Given the description of an element on the screen output the (x, y) to click on. 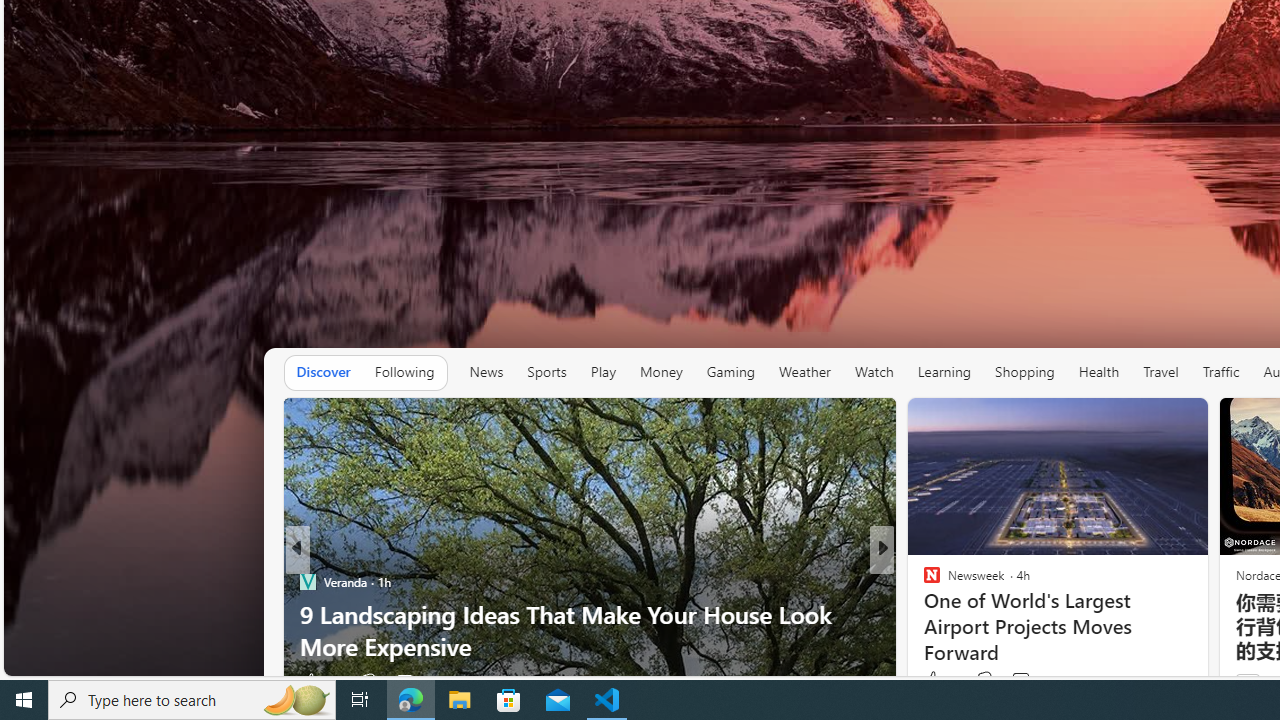
ABC News (923, 581)
162 Like (936, 681)
View comments 20 Comment (1014, 681)
WhatToWatch (923, 581)
View comments 104 Comment (1019, 681)
395 Like (936, 681)
View comments 5 Comment (1026, 681)
